Given the description of an element on the screen output the (x, y) to click on. 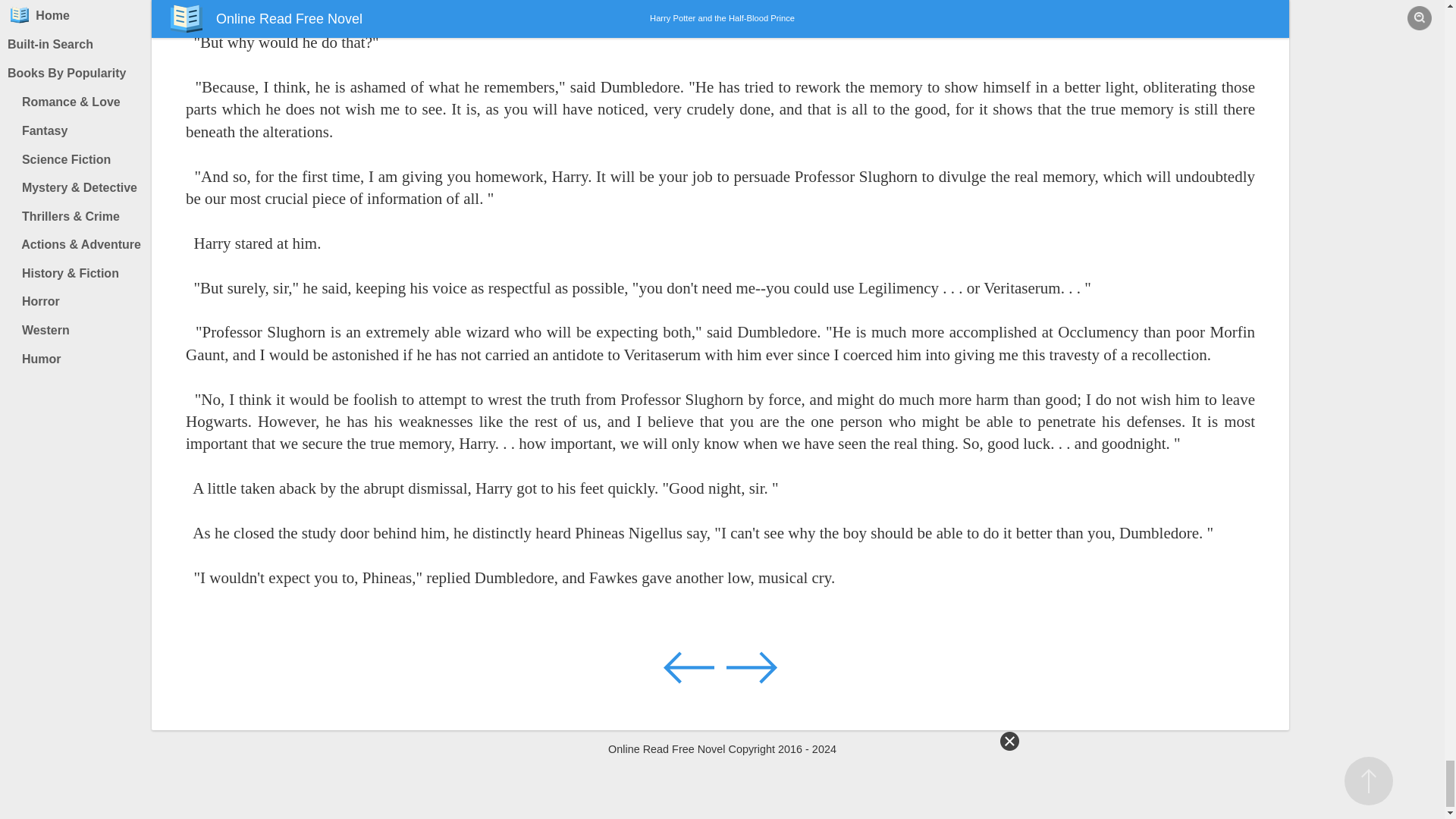
Previous Page (690, 666)
Next Page (751, 666)
